Given the description of an element on the screen output the (x, y) to click on. 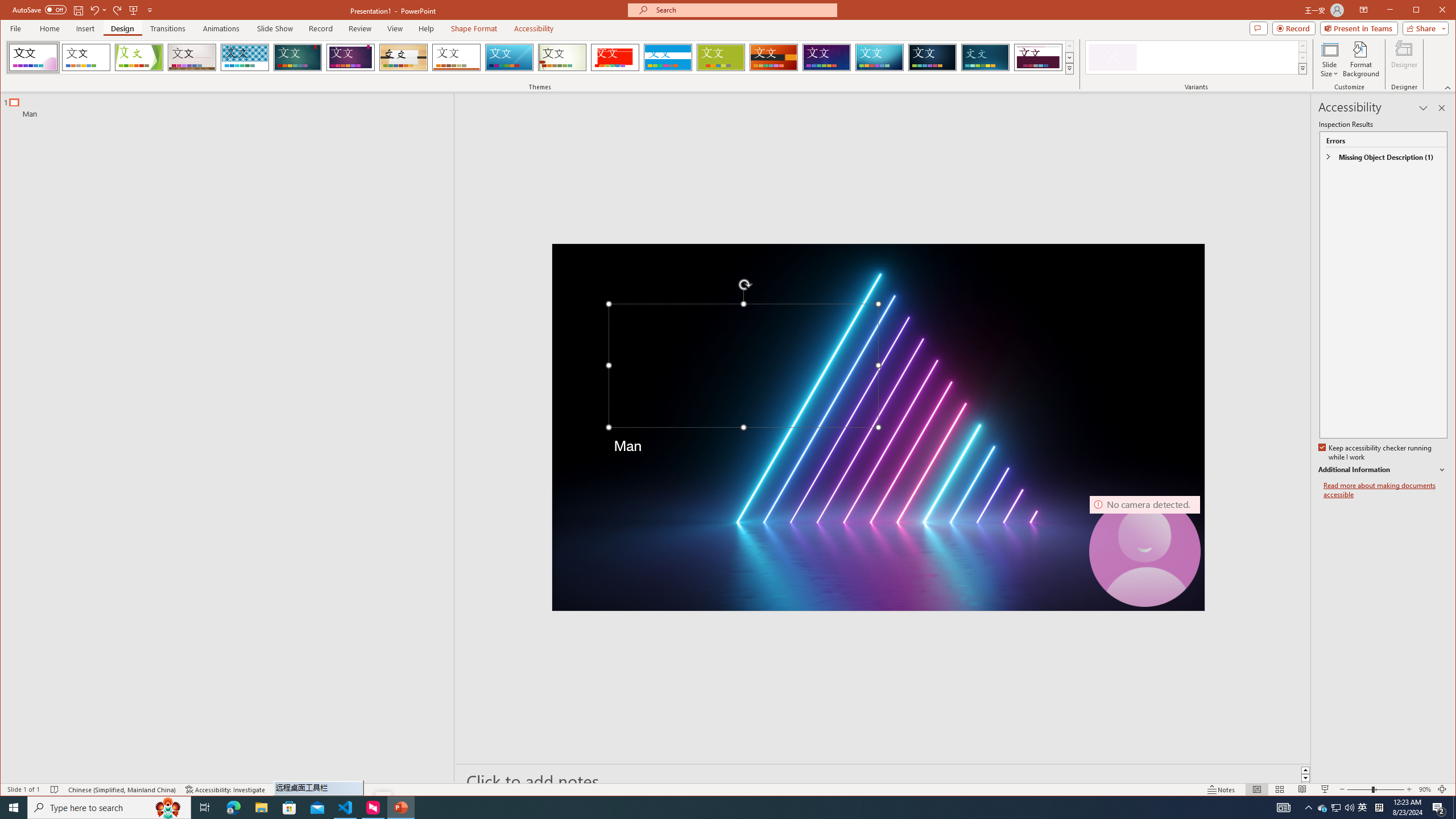
Zoom 90% (1424, 789)
Circuit (879, 57)
Variants (1302, 68)
